Given the description of an element on the screen output the (x, y) to click on. 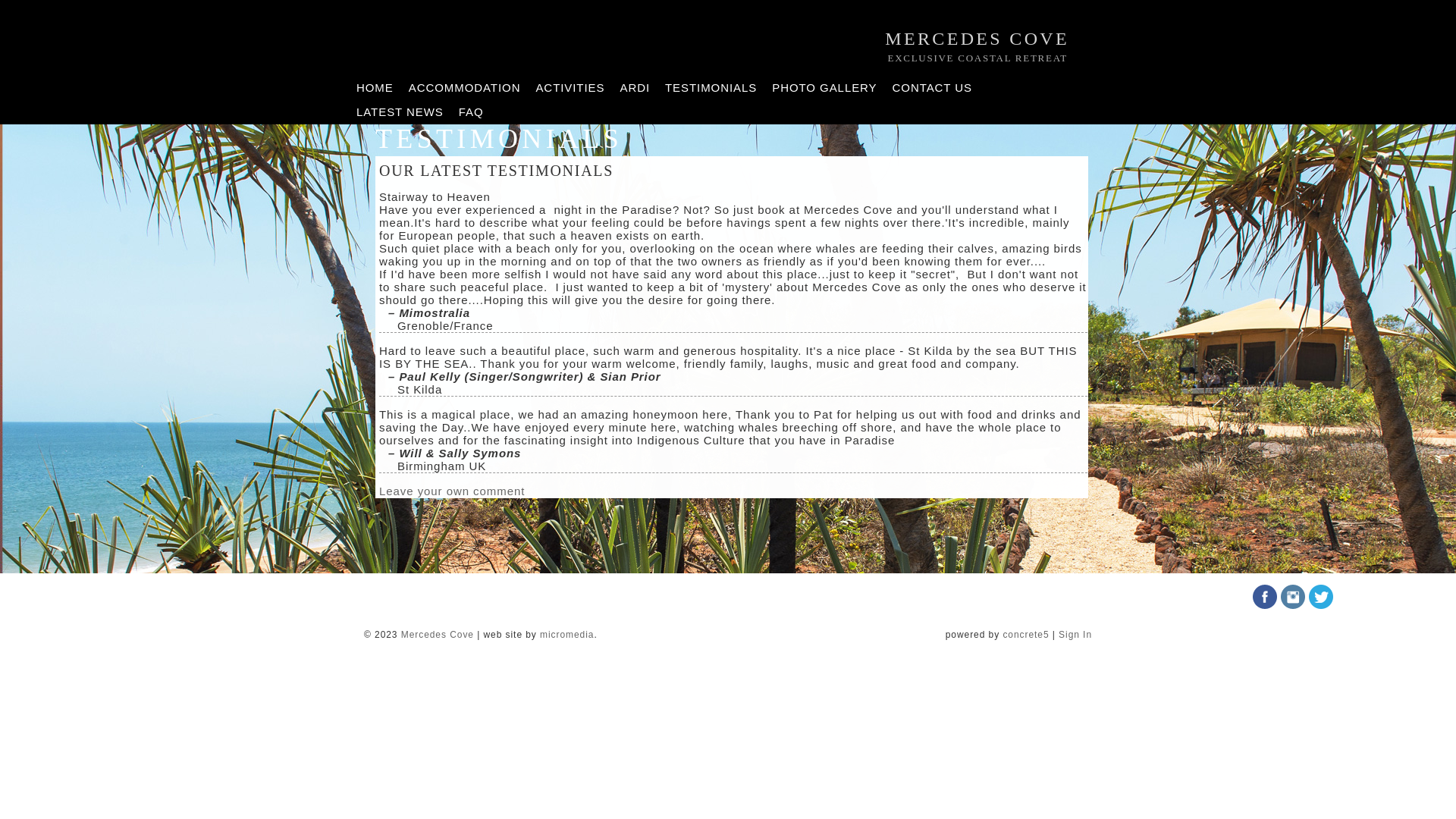
View our Instgram page Element type: hover (1292, 604)
Mercedes Cove Element type: text (437, 634)
PHOTO GALLERY Element type: text (824, 87)
ACTIVITIES Element type: text (569, 87)
ARDI Element type: text (634, 87)
Find us on FaceBook Element type: hover (1264, 604)
ACCOMMODATION Element type: text (464, 87)
micromedia Element type: text (566, 634)
concrete5 Element type: text (1025, 634)
TESTIMONIALS Element type: text (710, 87)
HOME Element type: text (374, 87)
LATEST NEWS Element type: text (399, 112)
Sign In Element type: text (1075, 634)
Twitter Element type: hover (1320, 604)
MERCEDES COVE Element type: text (976, 38)
Leave your own comment Element type: text (451, 490)
FAQ Element type: text (471, 112)
CONTACT US Element type: text (931, 87)
